Given the description of an element on the screen output the (x, y) to click on. 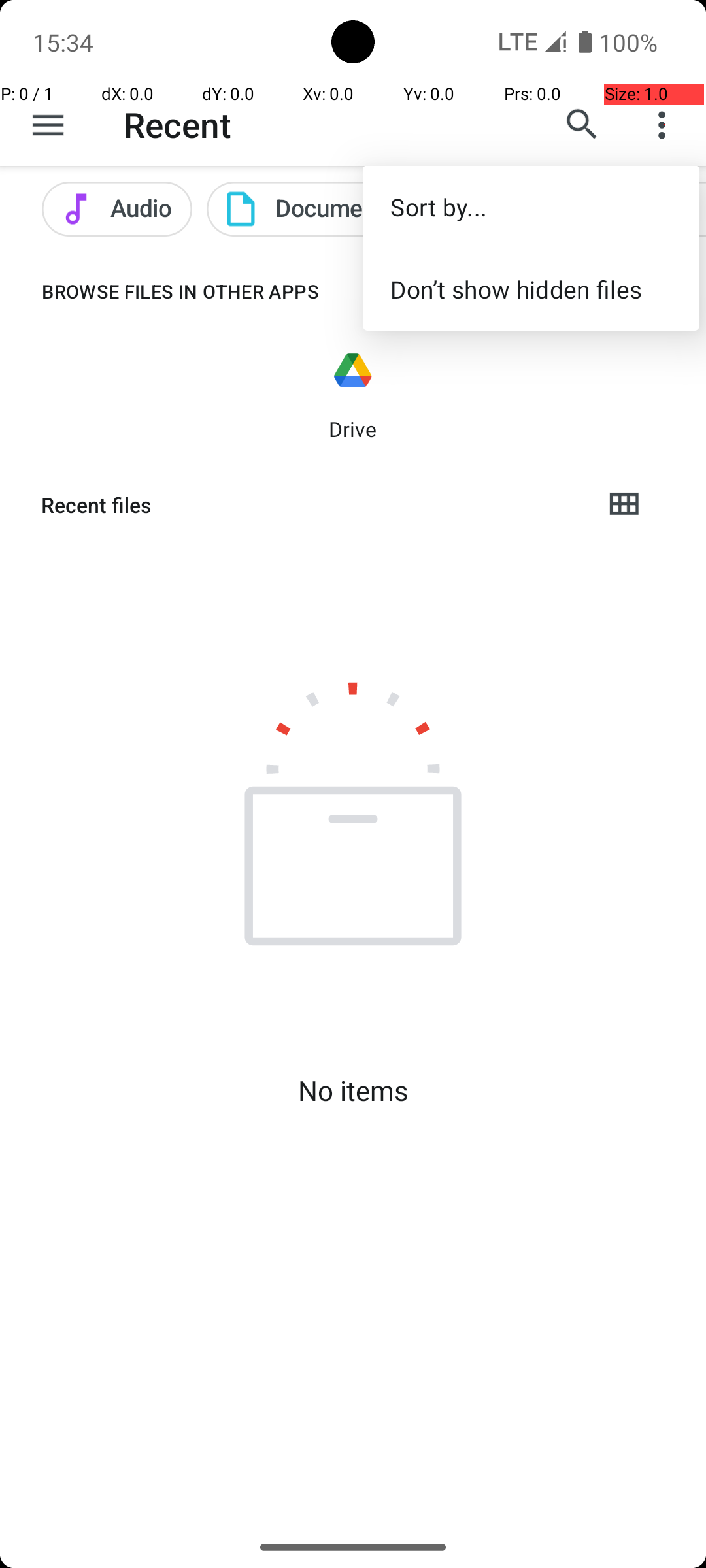
Don’t show hidden files Element type: android.widget.TextView (531, 288)
